Given the description of an element on the screen output the (x, y) to click on. 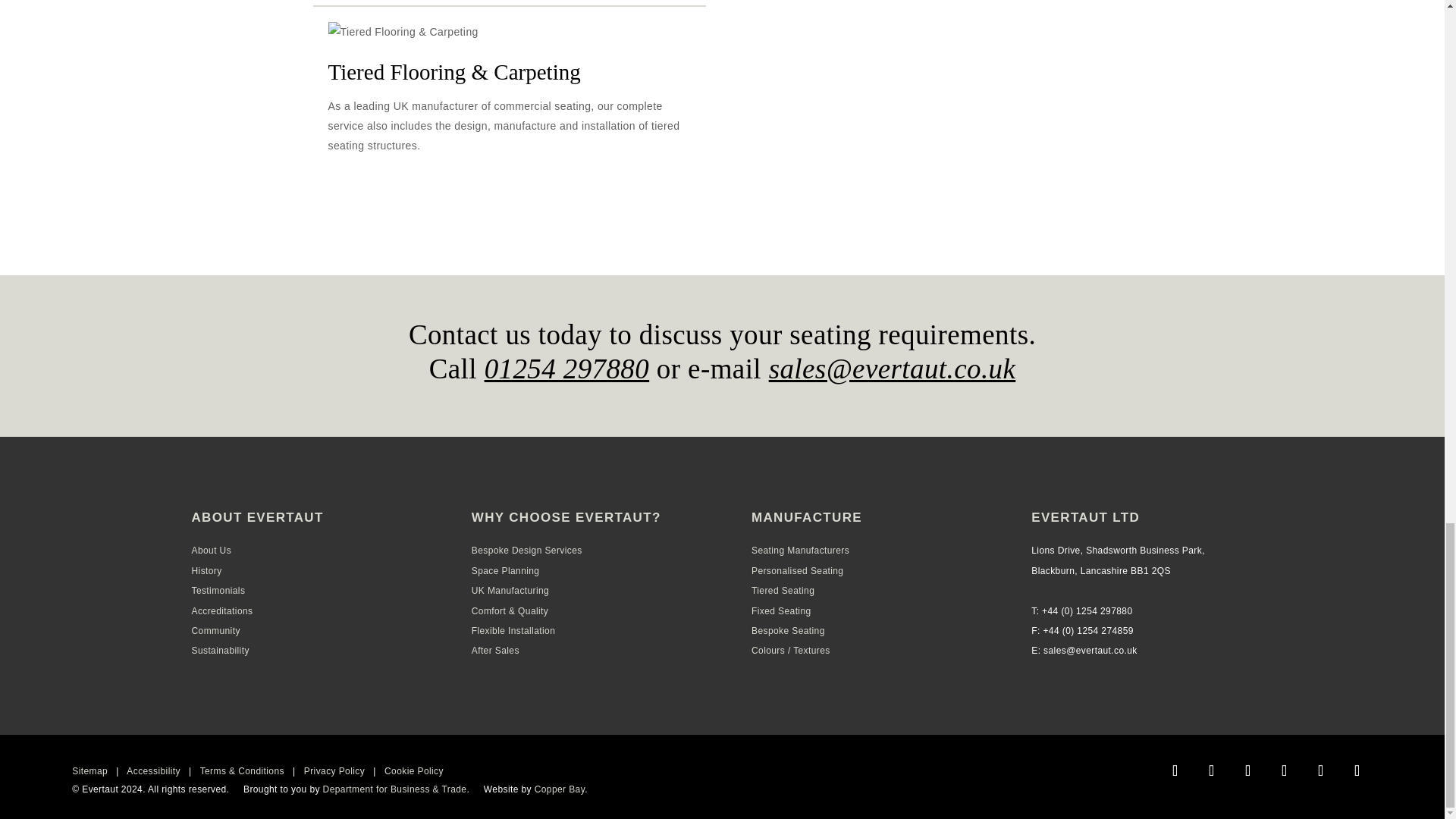
Follow on Facebook (1175, 770)
Follow on Youtube (1248, 770)
Follow on LinkedIn (1284, 770)
Follow on X (1321, 770)
Follow on Pinterest (1357, 770)
Follow on Instagram (1211, 770)
